Given the description of an element on the screen output the (x, y) to click on. 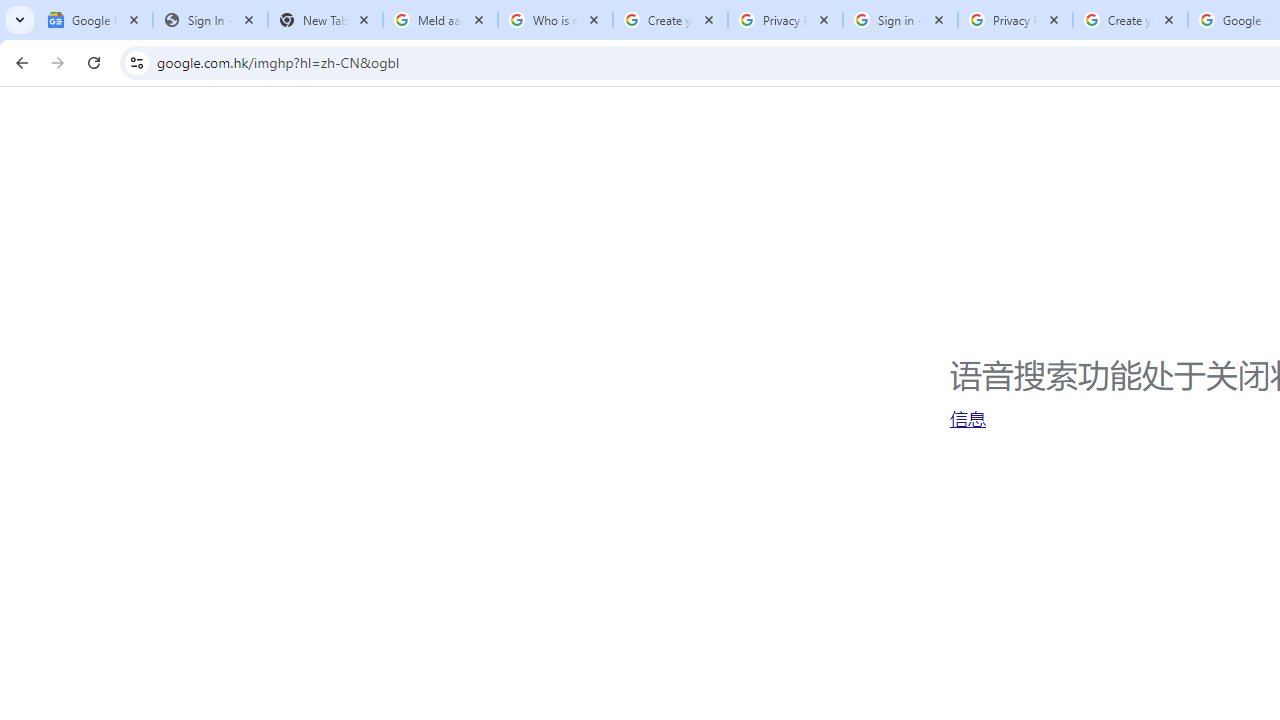
Sign in - Google Accounts (900, 20)
Sign In - USA TODAY (209, 20)
New Tab (324, 20)
Who is my administrator? - Google Account Help (555, 20)
Create your Google Account (670, 20)
Google News (95, 20)
Create your Google Account (1129, 20)
